Given the description of an element on the screen output the (x, y) to click on. 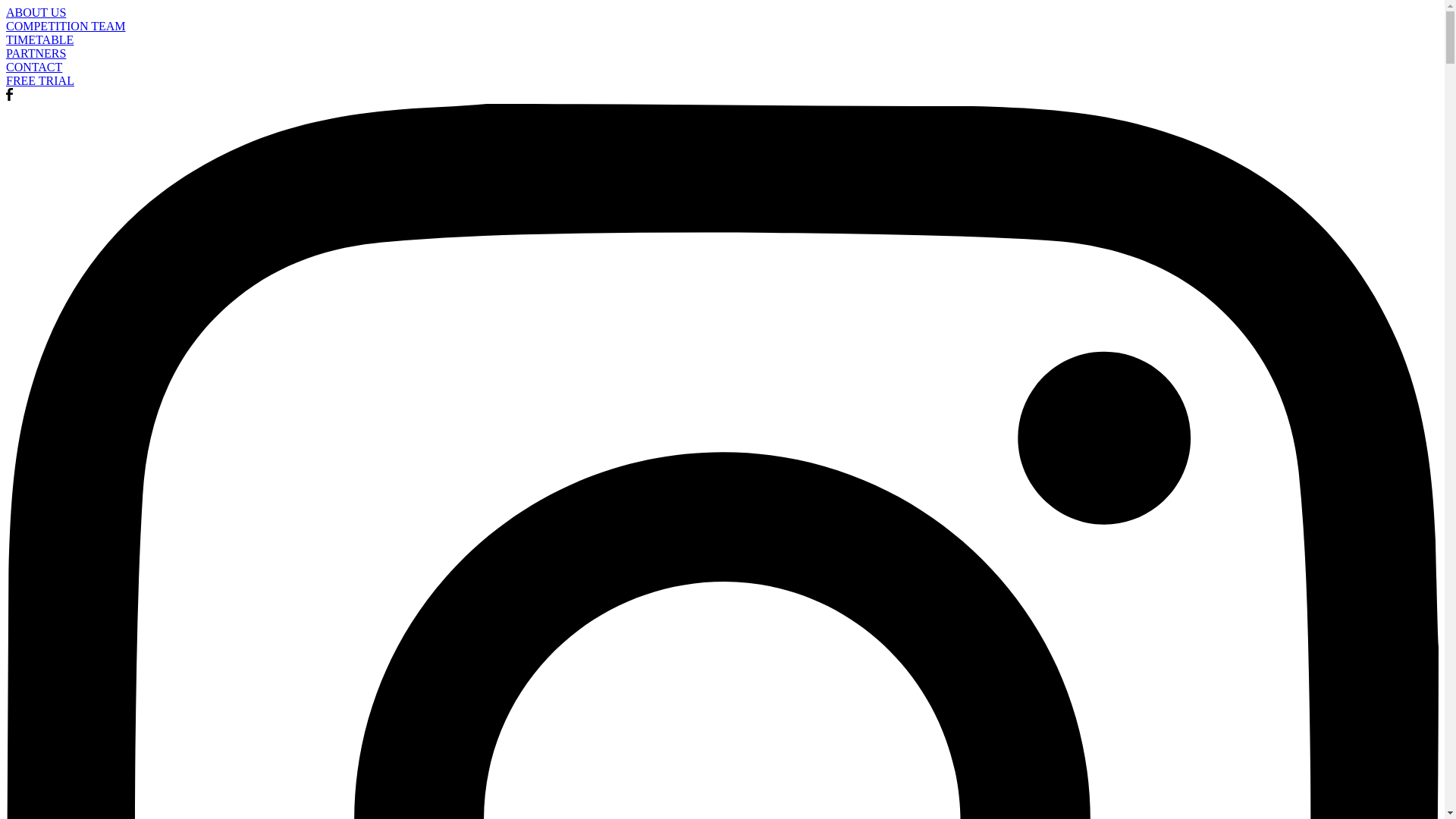
FREE TRIAL Element type: text (722, 80)
TIMETABLE Element type: text (722, 40)
PARTNERS Element type: text (722, 53)
CONTACT Element type: text (722, 67)
ABOUT US Element type: text (722, 12)
A link to this website's Facebook. Element type: hover (9, 96)
COMPETITION TEAM Element type: text (722, 26)
